Given the description of an element on the screen output the (x, y) to click on. 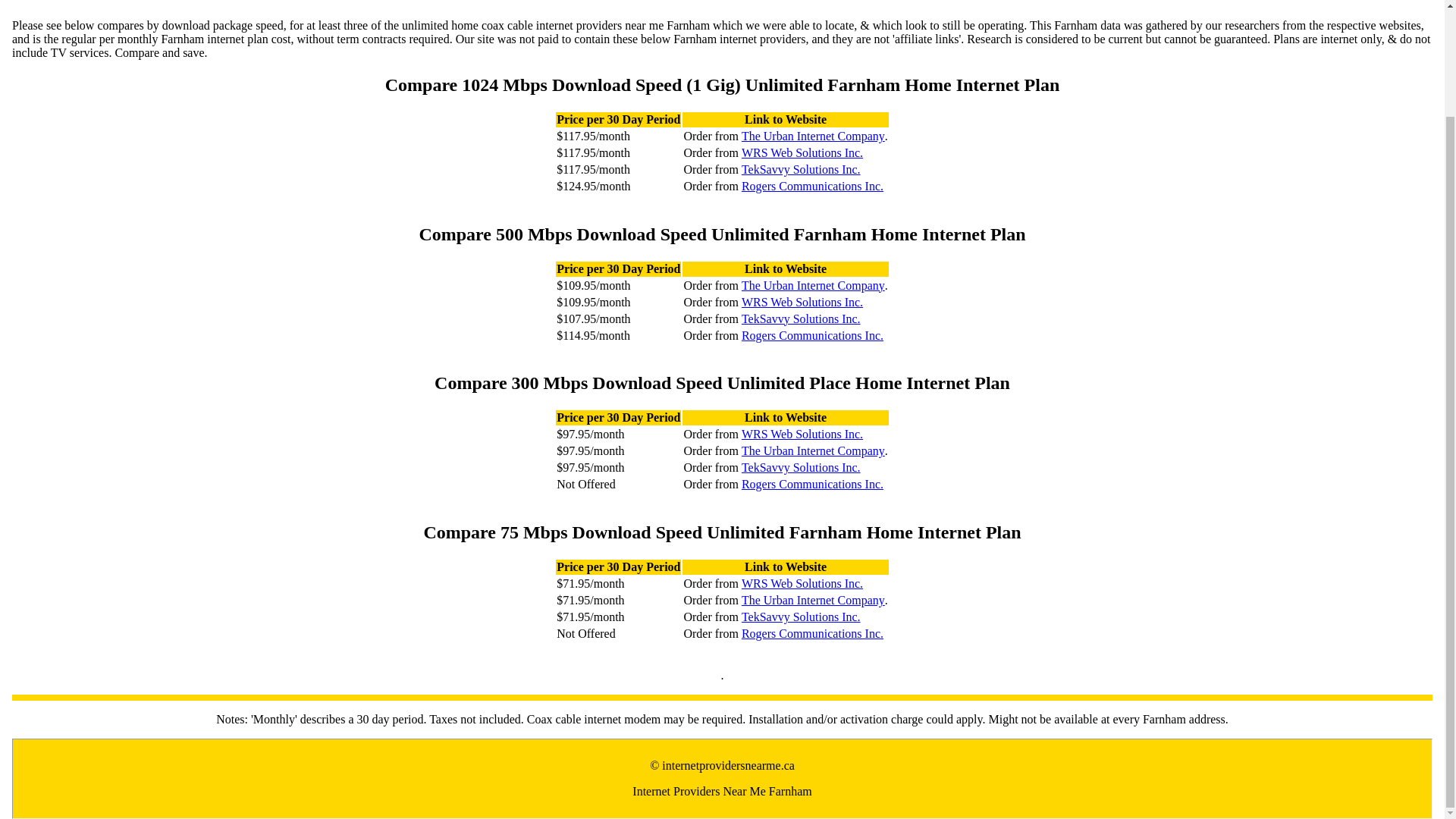
The Urban Internet Company (813, 450)
TekSavvy Solutions Inc. (800, 617)
Rogers Communications Inc. (812, 186)
Rogers Communications Inc. (812, 335)
The Urban Internet Company (813, 136)
WRS Web Solutions Inc. (802, 583)
TekSavvy Solutions Inc. (800, 169)
WRS Web Solutions Inc. (802, 301)
Rogers Communications Inc. (812, 633)
The Urban Internet Company (813, 600)
